Given the description of an element on the screen output the (x, y) to click on. 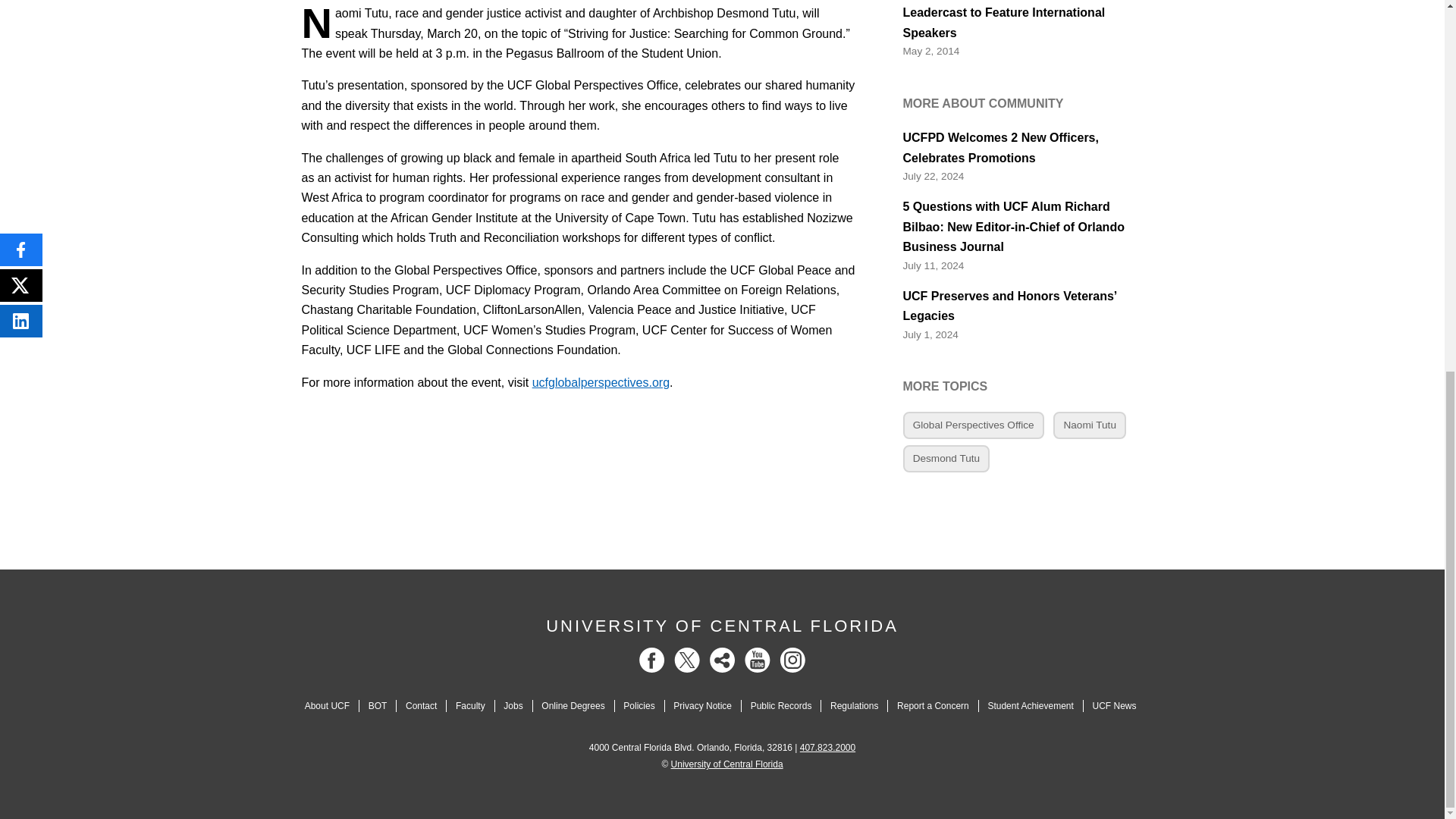
UCFPD Welcomes 2 New Officers, Celebrates Promotions (1022, 147)
UNIVERSITY OF CENTRAL FLORIDA (722, 626)
Leadercast to Feature International Speakers (1022, 23)
UCF Board of Trustees (377, 706)
Naomi Tutu (1088, 424)
Desmond Tutu (946, 458)
Global Perspectives Office (972, 424)
ucfglobalperspectives.org (600, 381)
